Given the description of an element on the screen output the (x, y) to click on. 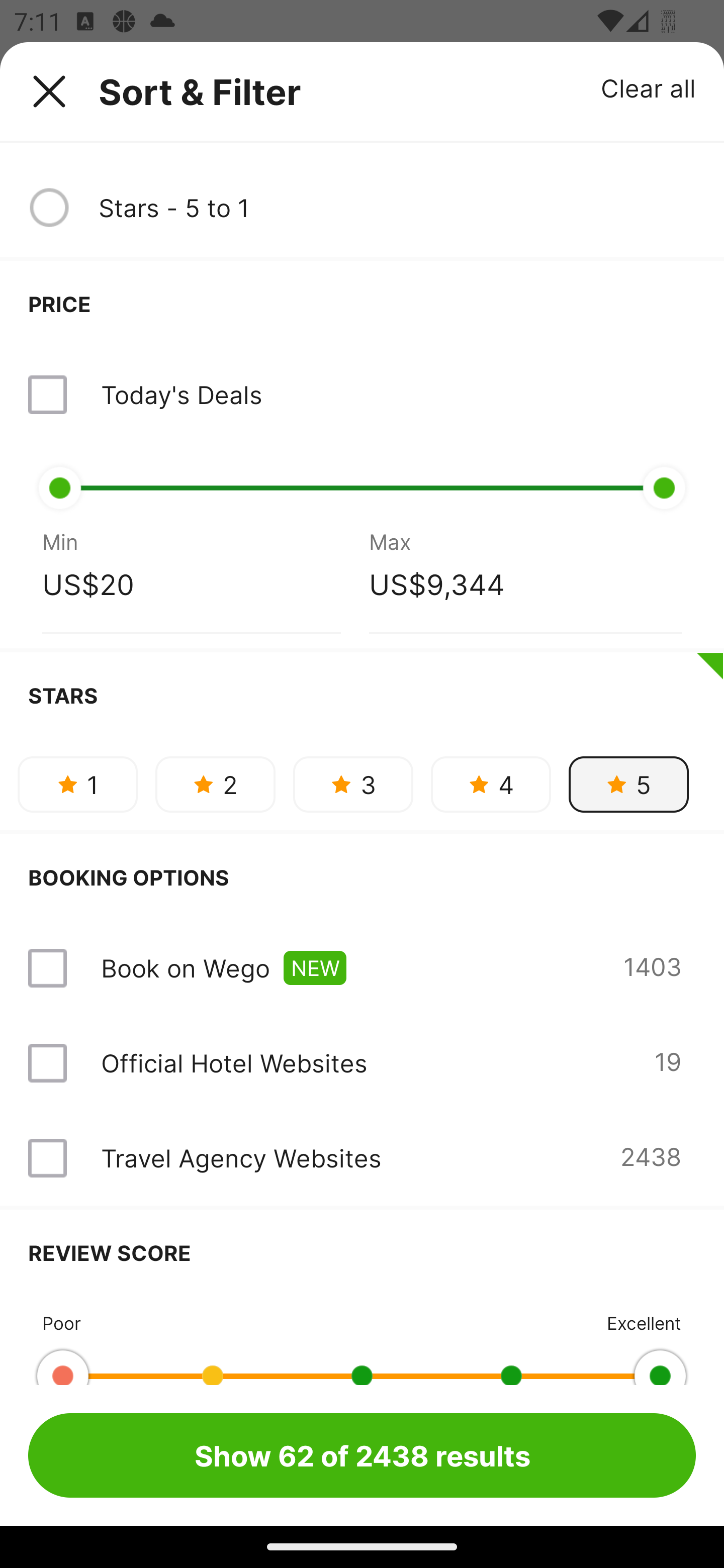
Clear all (648, 87)
Stars - 5 to 1 (396, 207)
Today's Deals (362, 394)
Today's Deals (181, 394)
1 (77, 783)
2 (214, 783)
3 (352, 783)
4 (491, 783)
5 (627, 783)
Book on Wego NEW 1403 (362, 968)
Book on Wego (184, 968)
Official Hotel Websites 19 (362, 1063)
Official Hotel Websites (233, 1062)
Travel Agency Websites 2438 (362, 1157)
Travel Agency Websites (240, 1157)
Poor Excellent (362, 1340)
Show 62 of 2438 results (361, 1454)
